Given the description of an element on the screen output the (x, y) to click on. 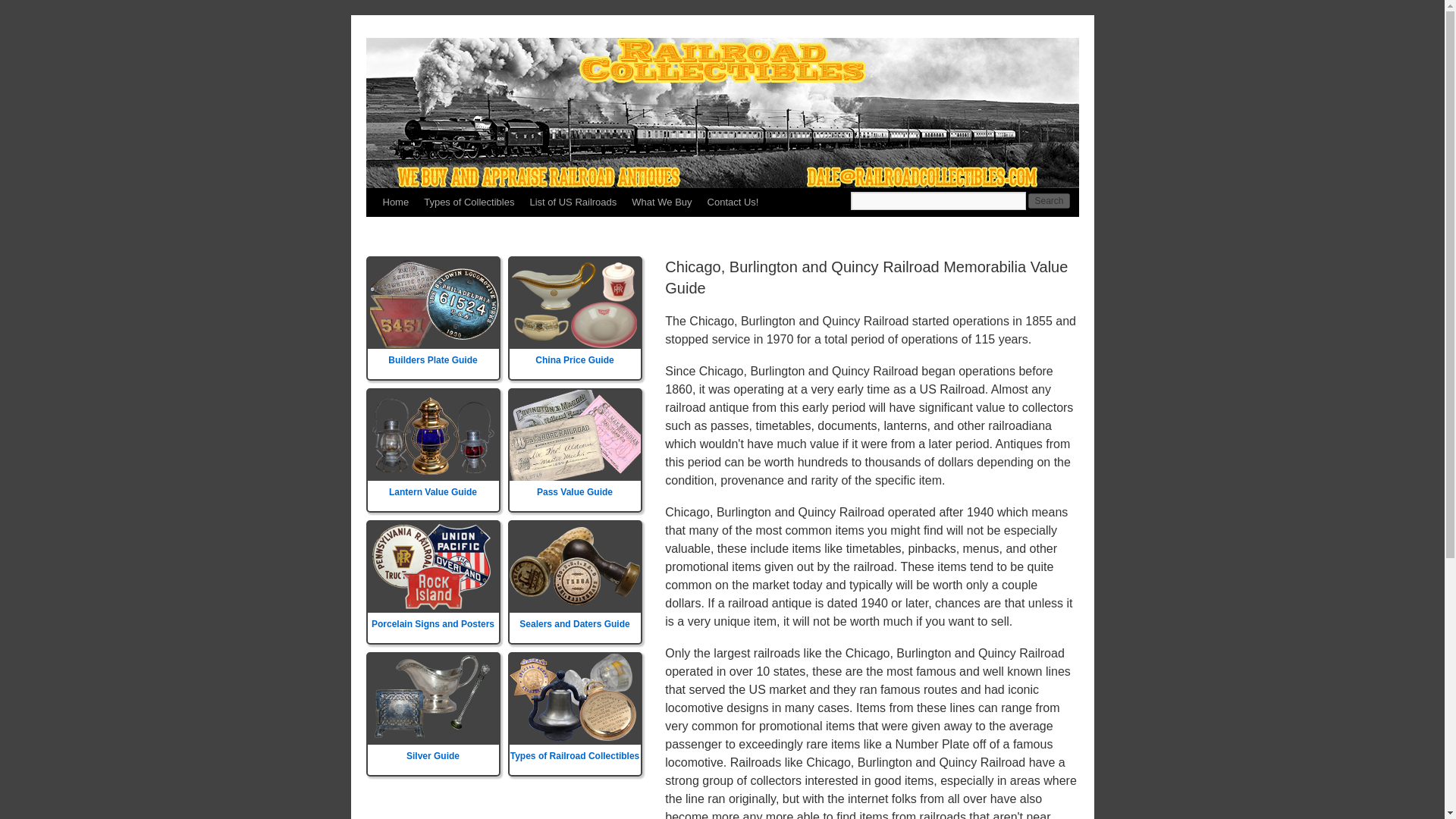
What We Buy (661, 202)
Search (1047, 200)
Contact Us! (733, 202)
Home (395, 202)
List of US Railroads (572, 202)
Search (1047, 200)
Types of Collectibles (468, 202)
Railroad Antiques Value Guides (661, 202)
